Given the description of an element on the screen output the (x, y) to click on. 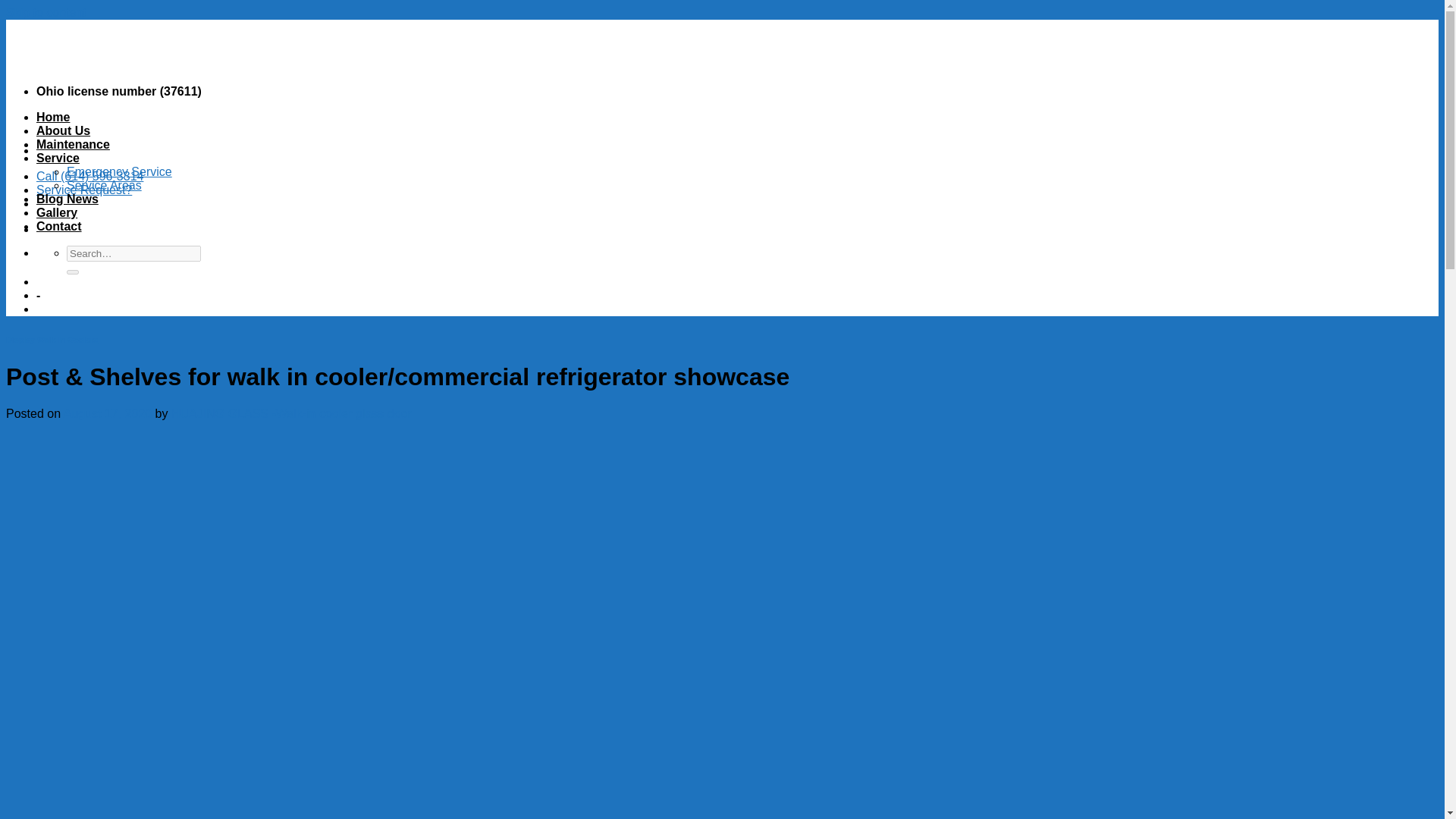
About Us (63, 130)
Display Walk In Coolers (51, 338)
Contact (58, 226)
HUAJING GLASS -Walk-in cooler glass door (291, 413)
Gallery (56, 212)
WooCommerce needed (38, 295)
Service Request? (84, 189)
Service (58, 157)
- (38, 295)
Emergency Service (118, 171)
Home (52, 116)
August 17, 2020 (108, 413)
Service Areas (103, 185)
Maintenance (73, 144)
Skip to content (45, 11)
